Given the description of an element on the screen output the (x, y) to click on. 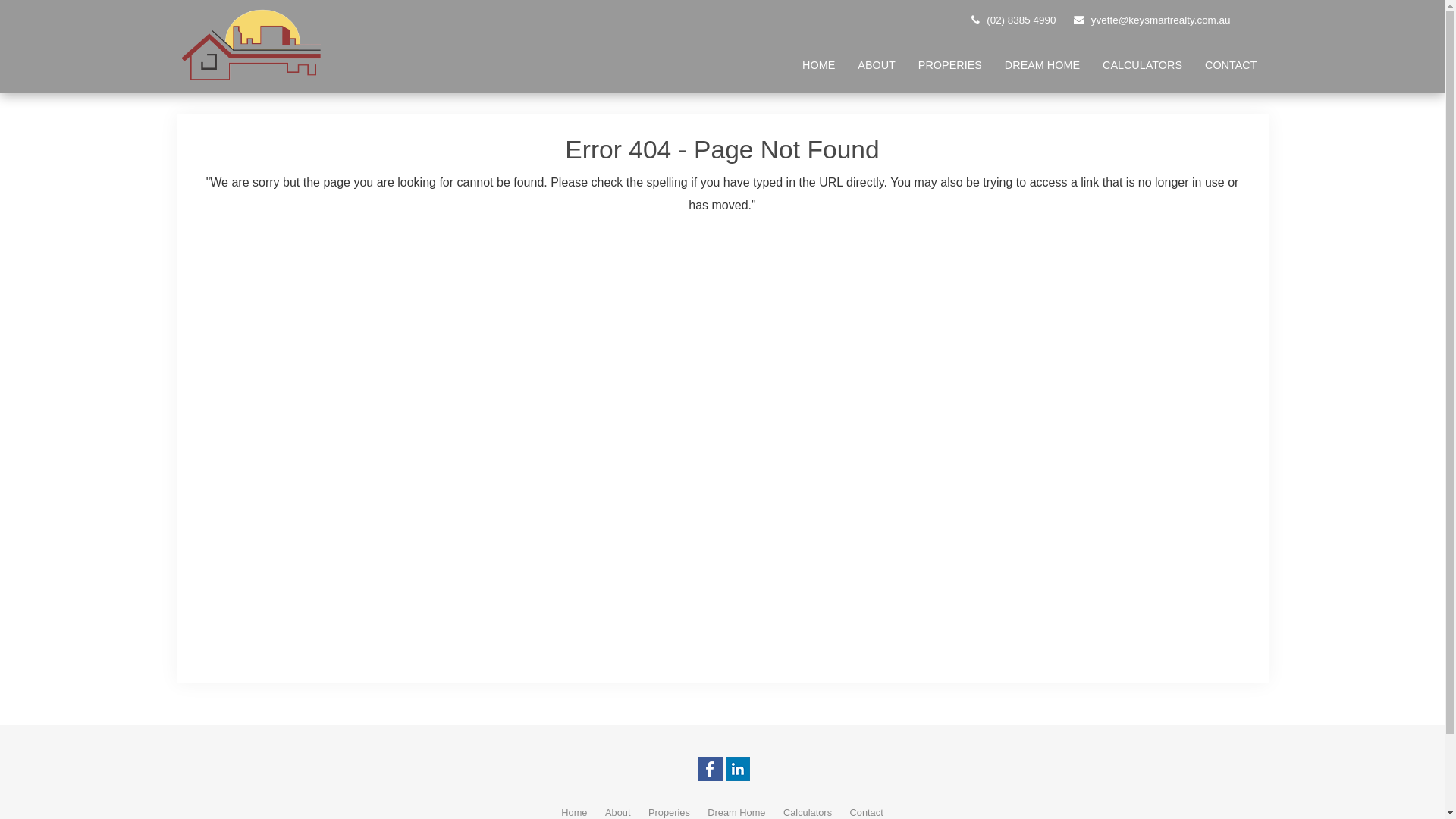
CALCULATORS Element type: text (1142, 64)
Contact Element type: text (866, 812)
DREAM HOME Element type: text (1042, 64)
PROPERIES Element type: text (949, 64)
Home Element type: text (573, 812)
Calculators Element type: text (807, 812)
About Element type: text (617, 812)
HOME Element type: text (818, 64)
yvette@keysmartrealty.com.au Element type: text (1151, 19)
Properies Element type: text (668, 812)
Dream Home Element type: text (735, 812)
CONTACT Element type: text (1230, 64)
(02) 8385 4990 Element type: text (1013, 19)
ABOUT Element type: text (876, 64)
